Given the description of an element on the screen output the (x, y) to click on. 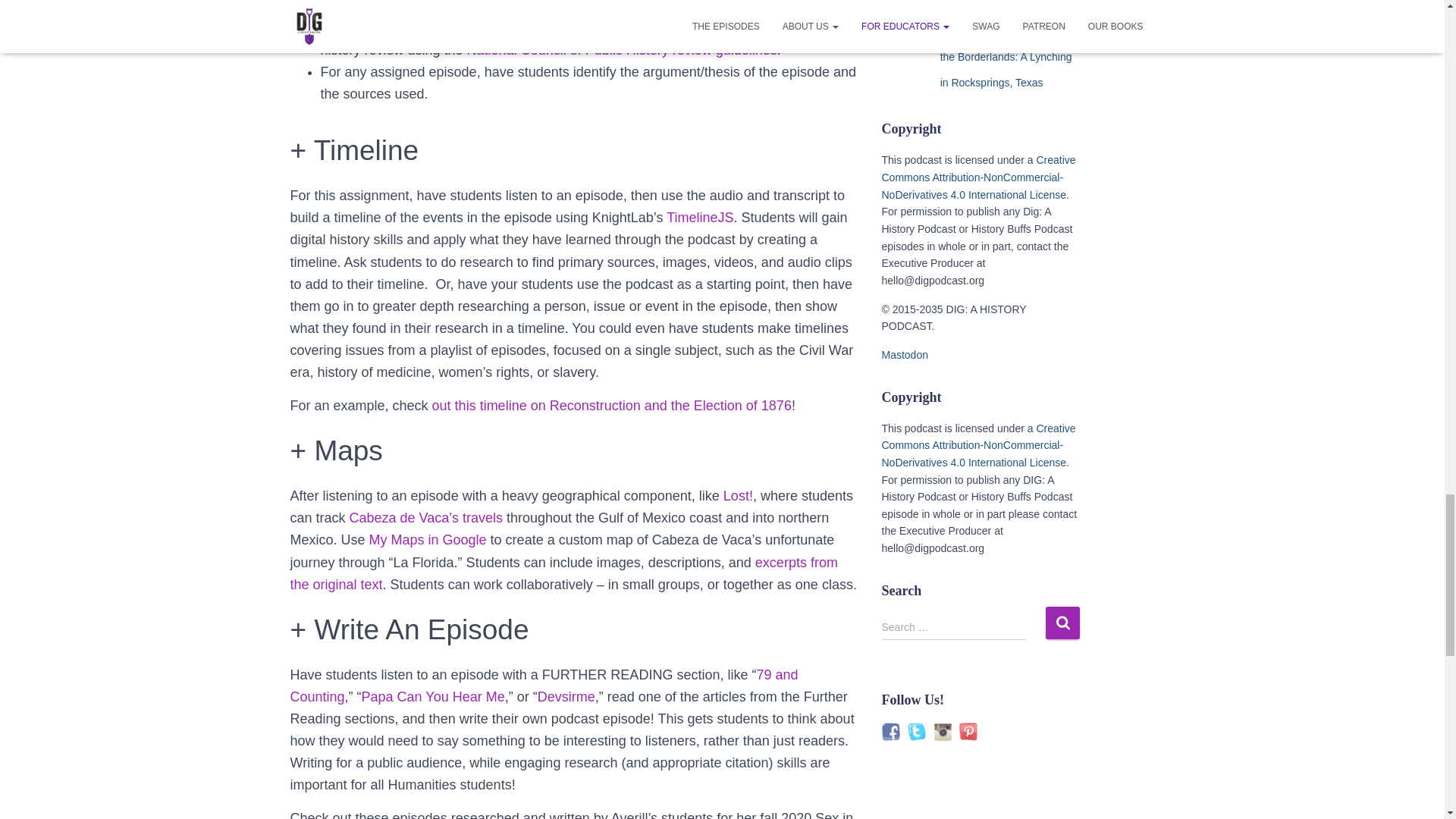
out this timeline on Reconstruction and the Election of  (596, 405)
Lost! (737, 495)
Search (1062, 622)
1876 (776, 405)
Search (1062, 622)
TimelineJS (699, 217)
National Council of Public History review guidelines (622, 49)
